Given the description of an element on the screen output the (x, y) to click on. 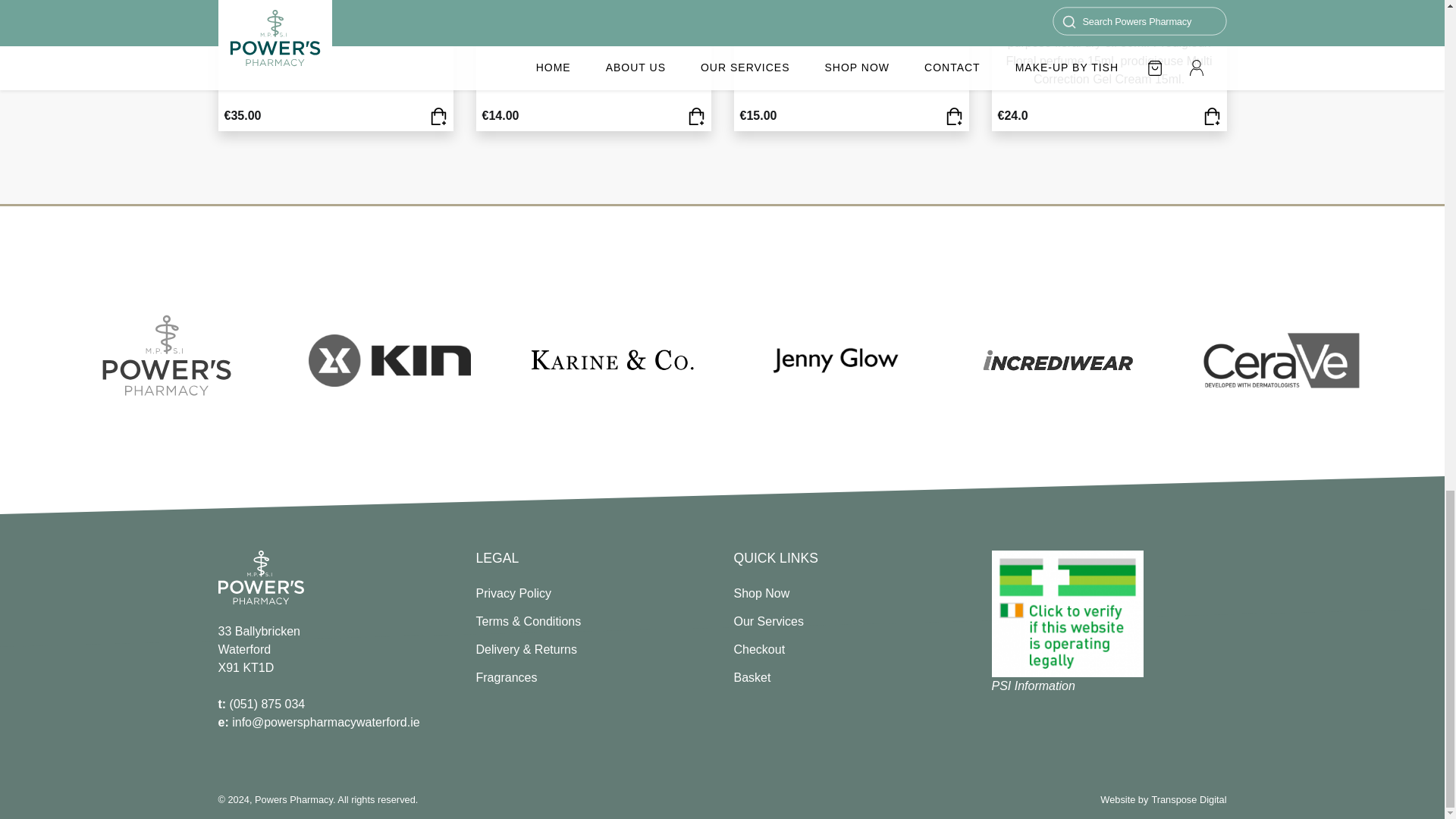
Email us (319, 721)
Shop Nuxe Huile Prodigieuse Florale (695, 115)
Shop Nuxe Prodigieux Florale Travel Kit 2022 (1211, 115)
Call us (261, 703)
Shop Nuxe Reve De Miel Honey Lip Balm (953, 115)
